Given the description of an element on the screen output the (x, y) to click on. 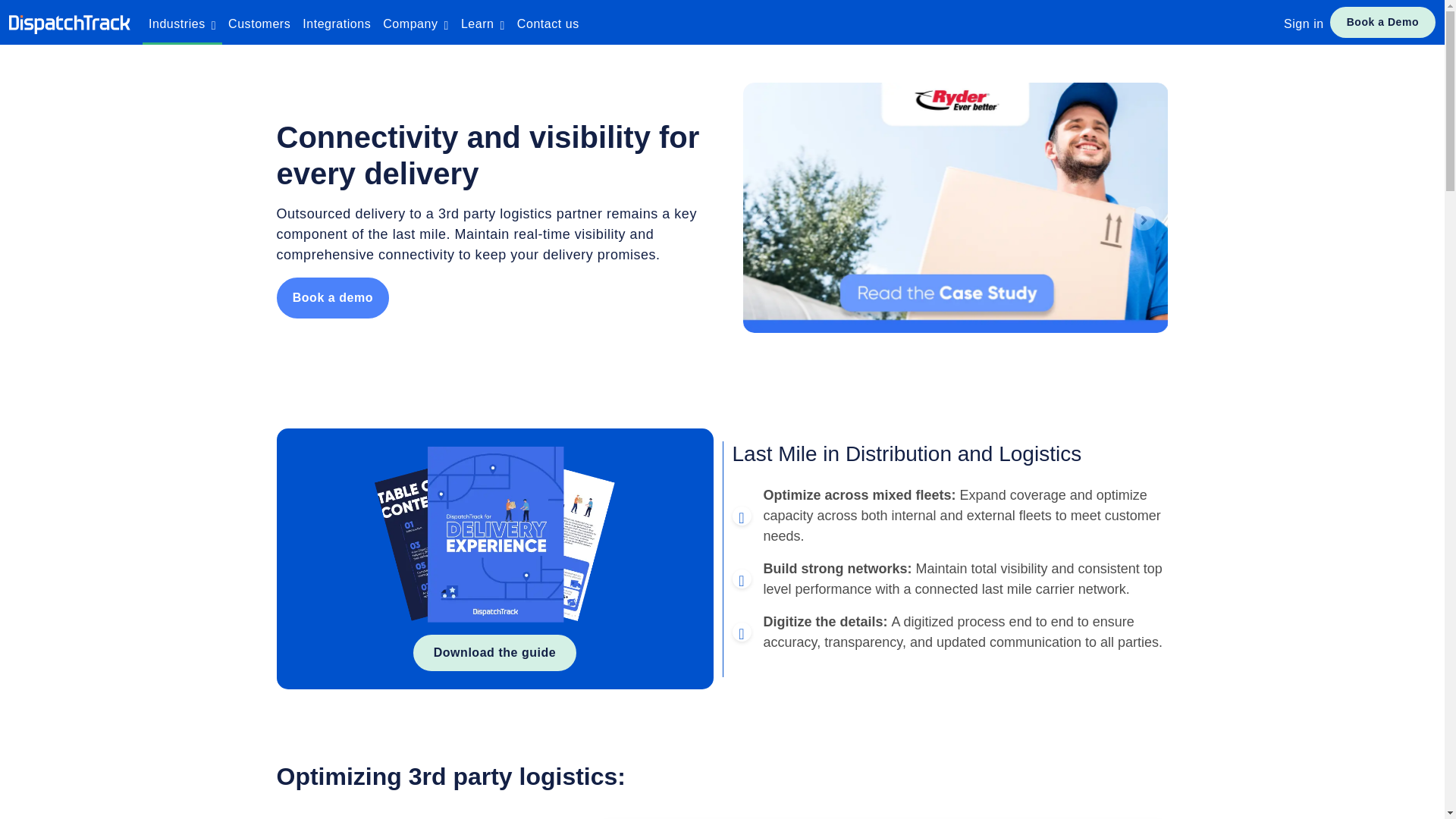
Book a Demo (1382, 21)
Company (415, 22)
Contact us (548, 22)
Learn (482, 22)
Customers (259, 22)
Integrations (337, 22)
Book a demo (332, 297)
Sign in (1304, 22)
Industries (182, 22)
